Given the description of an element on the screen output the (x, y) to click on. 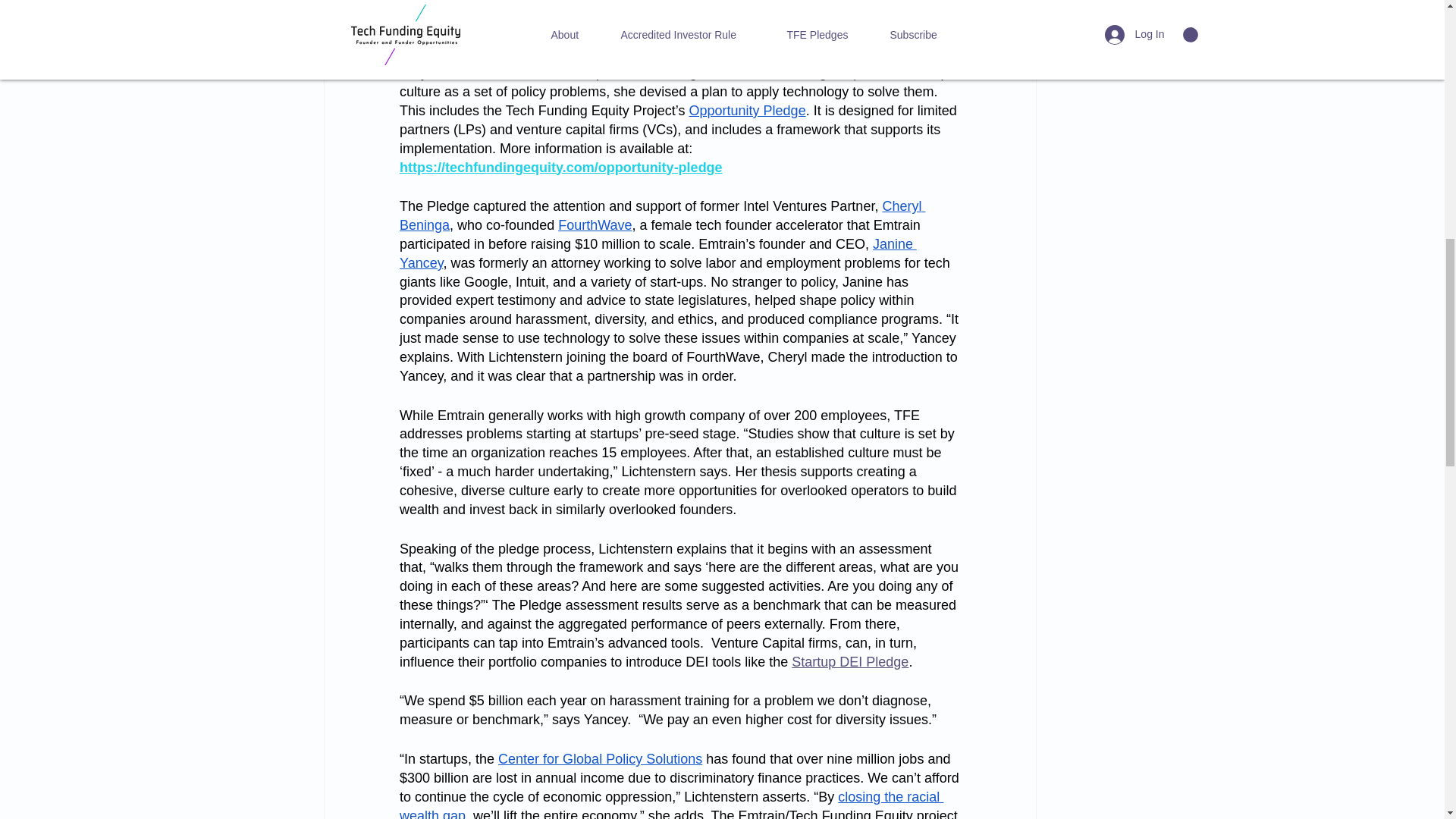
closing the racial wealth gap (670, 804)
Janine Yancey (656, 253)
Cheryl Beninga (661, 215)
Startup DEI Pledge (850, 661)
FourthWave (594, 224)
Mariah Lichtenstern (593, 54)
Opportunity Pledge (746, 110)
Center for Global Policy Solutions (599, 758)
DiverseCity Ventures (461, 54)
